Given the description of an element on the screen output the (x, y) to click on. 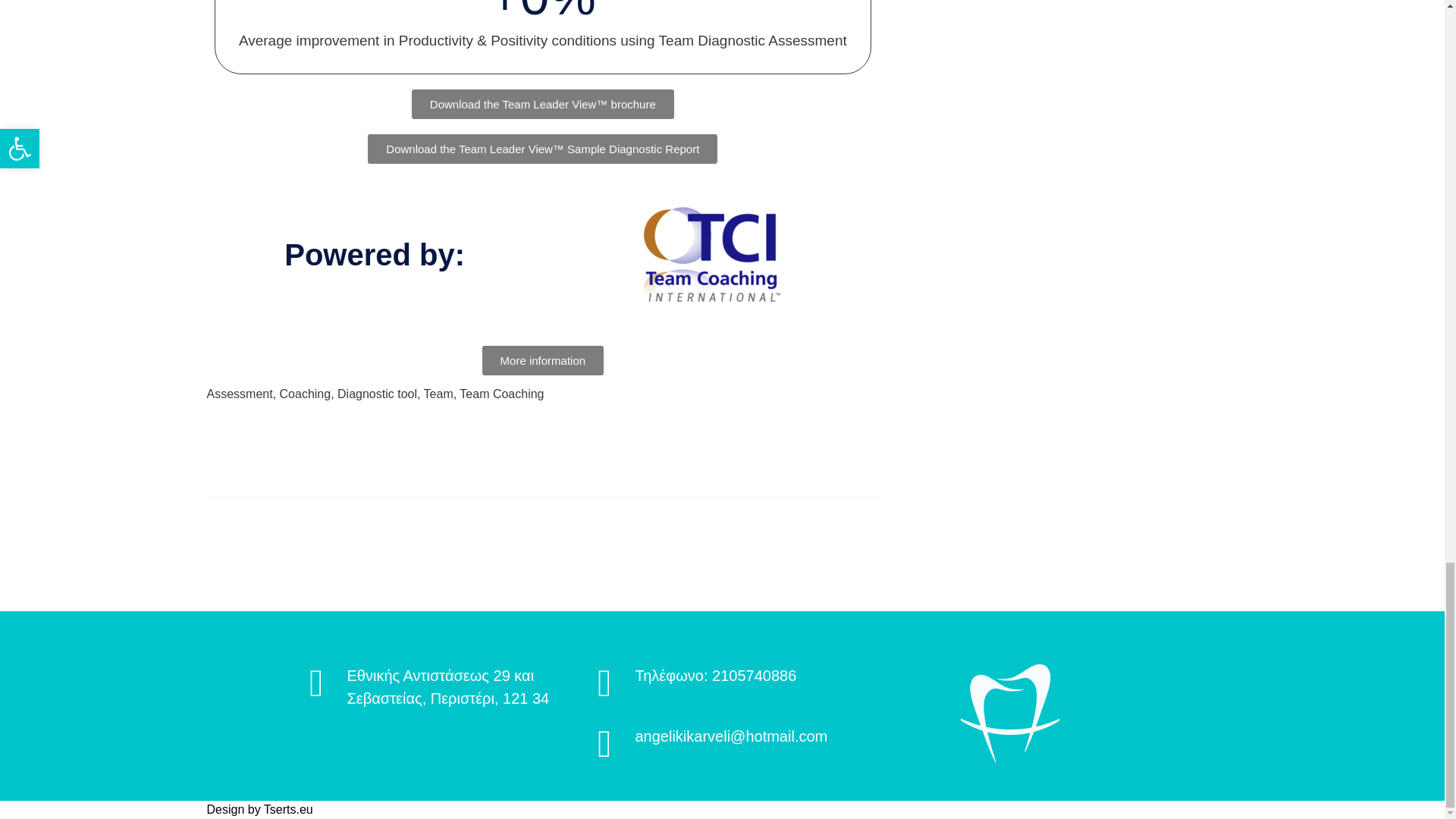
More information (542, 360)
Team Coaching (501, 393)
Assessment (239, 393)
Team (437, 393)
Coaching (305, 393)
Diagnostic tool (376, 393)
